Given the description of an element on the screen output the (x, y) to click on. 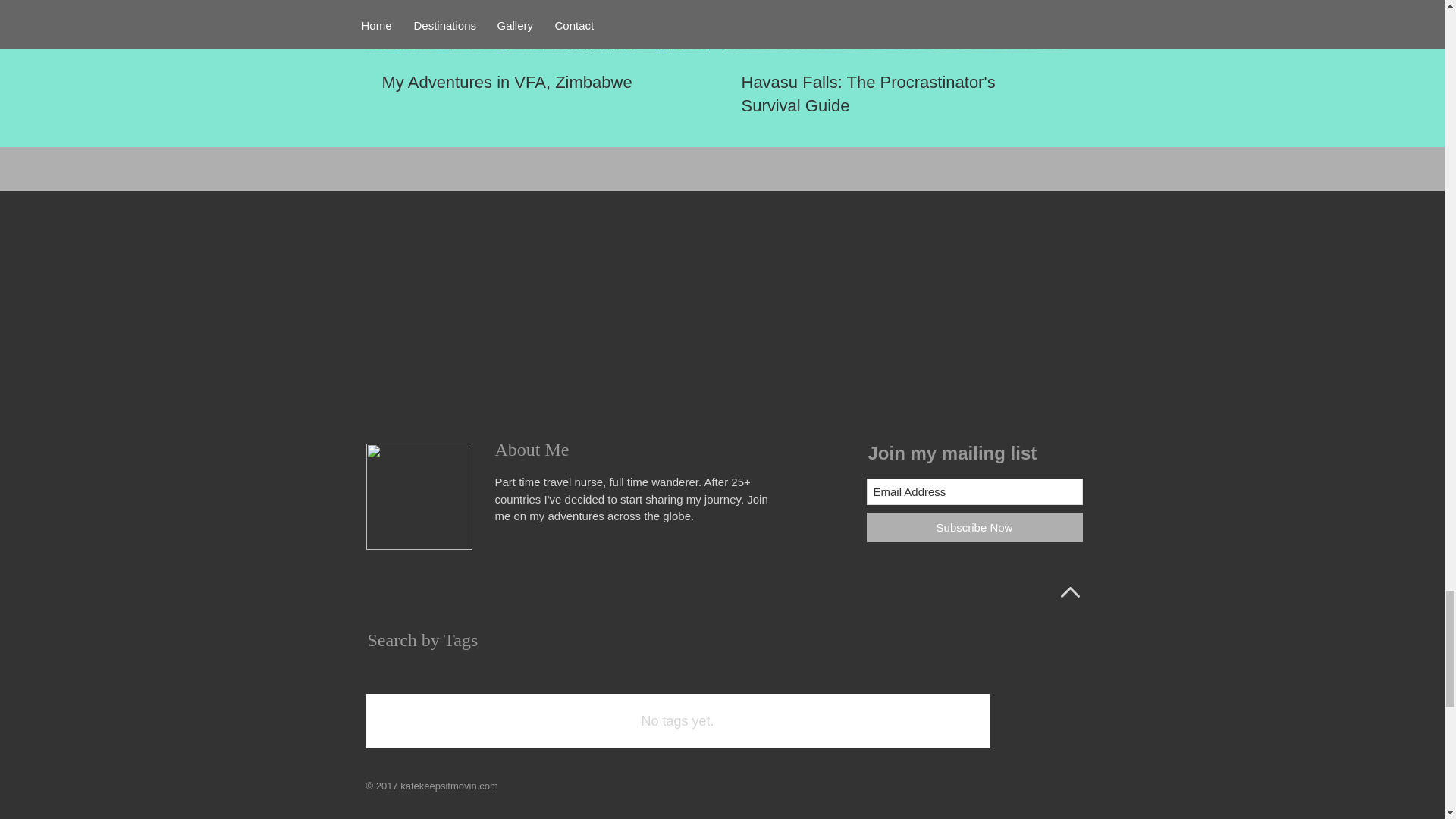
My Adventures in VFA, Zimbabwe (535, 83)
Subscribe Now (973, 527)
Havasu Falls: The Procrastinator's Survival Guide (895, 94)
